Given the description of an element on the screen output the (x, y) to click on. 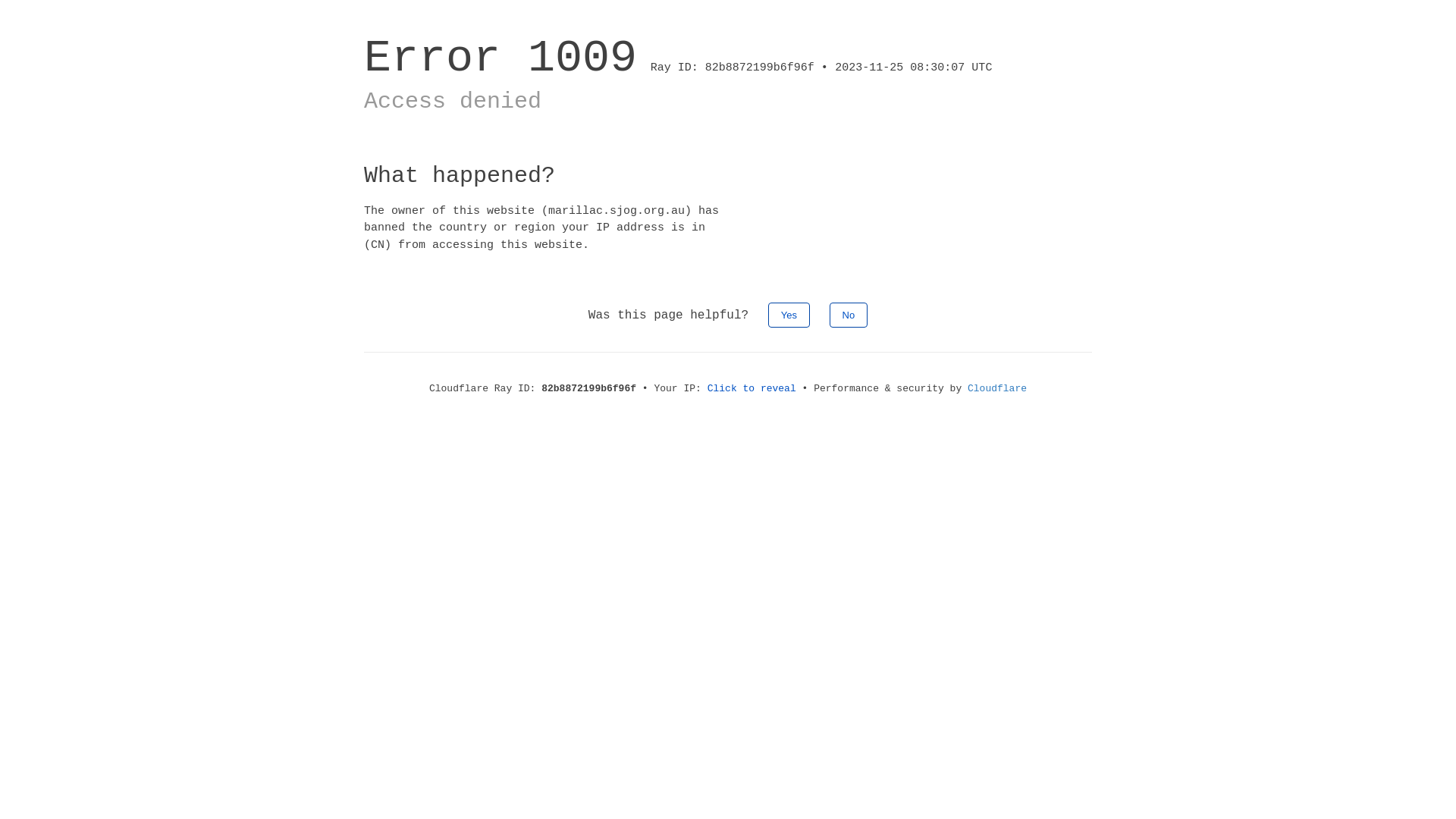
No Element type: text (848, 314)
Click to reveal Element type: text (751, 388)
Yes Element type: text (788, 314)
Cloudflare Element type: text (996, 388)
